Given the description of an element on the screen output the (x, y) to click on. 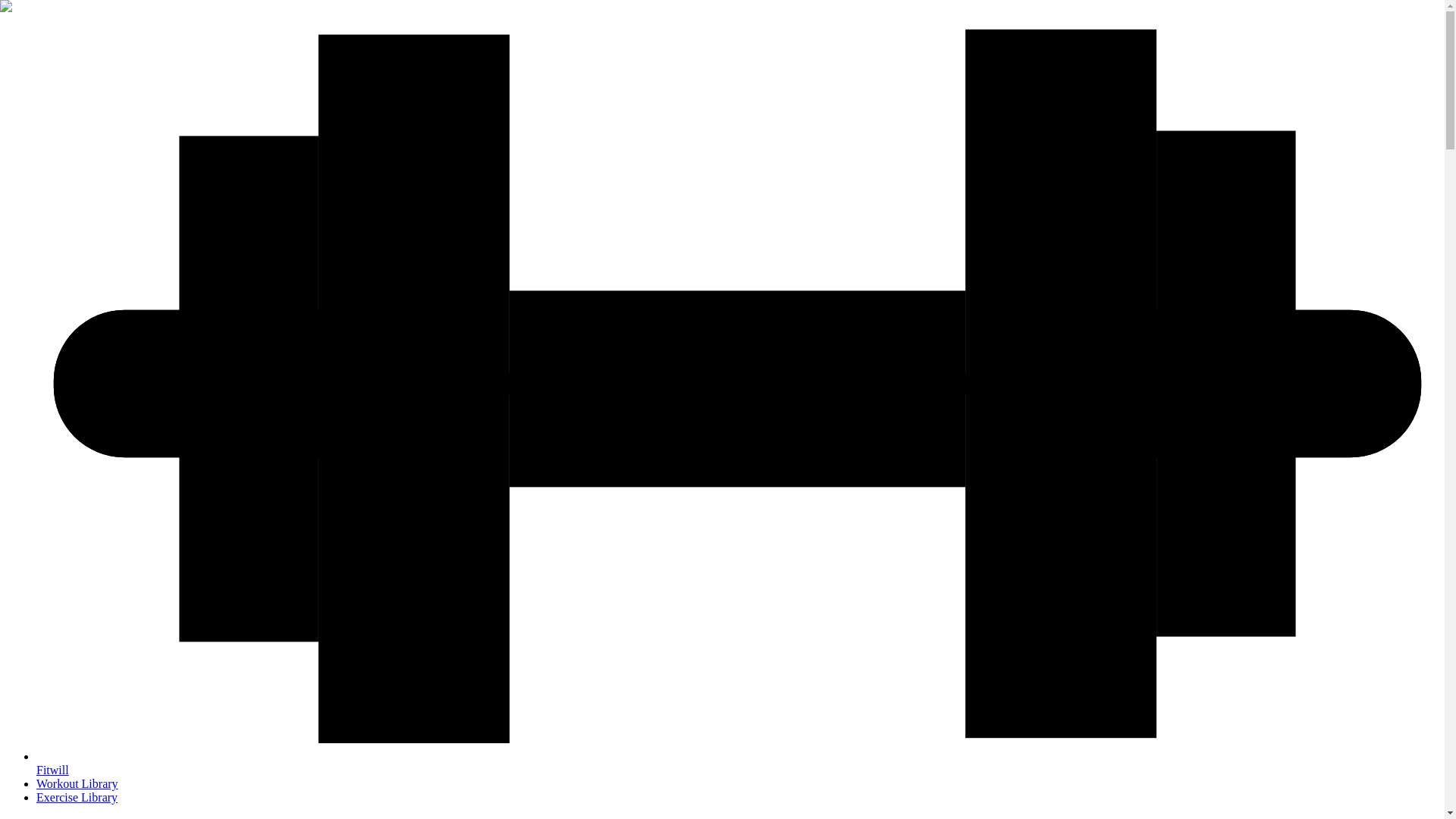
Workout Library (76, 783)
Exercise Library (76, 797)
